Given the description of an element on the screen output the (x, y) to click on. 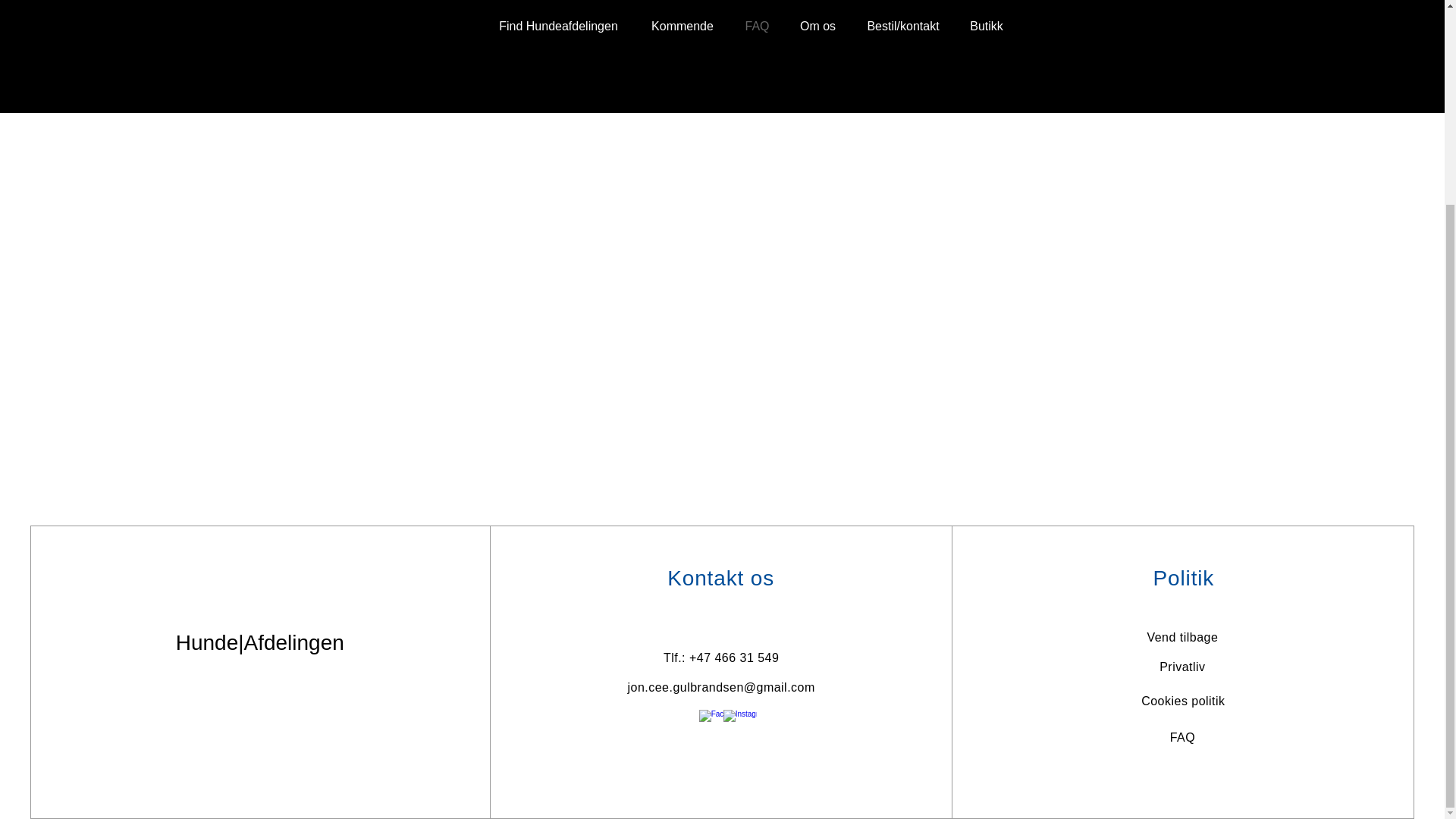
Privatliv (1181, 666)
Cookies politik (1182, 700)
FAQ (1182, 737)
Vend tilbage (1182, 636)
